Given the description of an element on the screen output the (x, y) to click on. 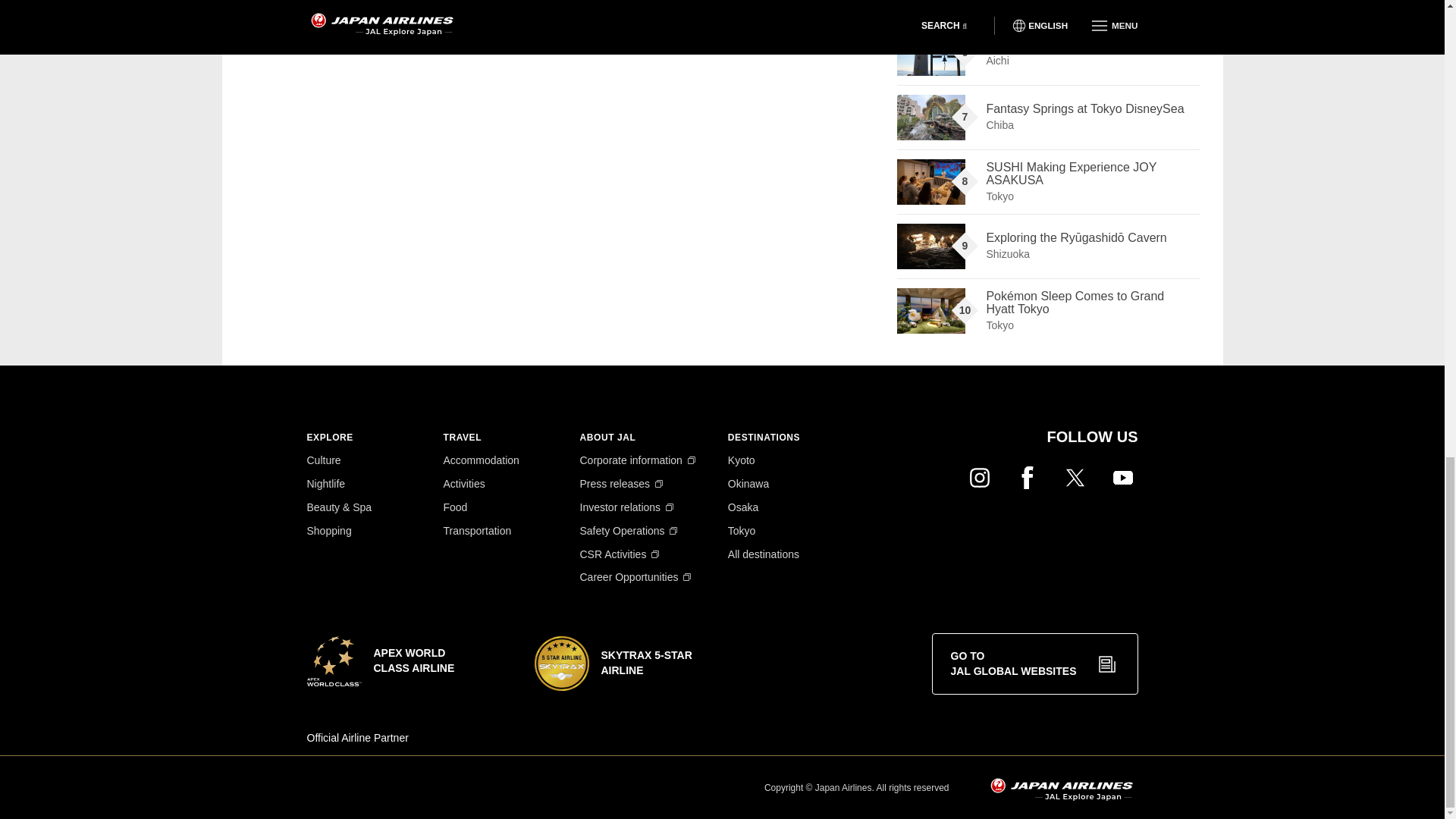
SUSHI Making Experience JOY ASAKUSA (930, 181)
Relaxing at the Nomazaki Lighthouse (930, 53)
Fantasy Springs at Tokyo DisneySea (930, 117)
Minamiboso Tateyama Stay (930, 5)
